Given the description of an element on the screen output the (x, y) to click on. 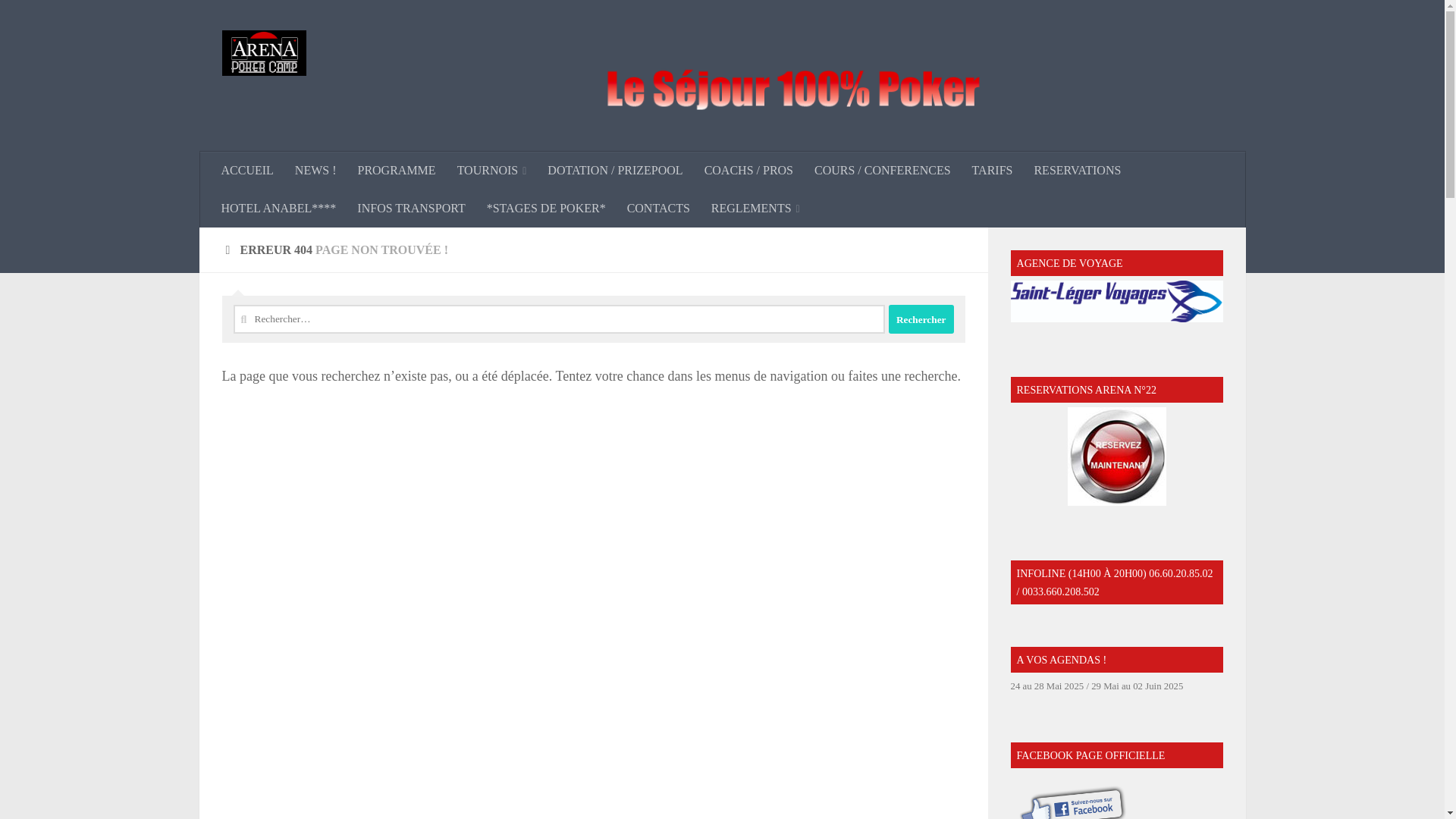
INFOS TRANSPORT (411, 208)
CONTACTS (657, 208)
Rechercher (920, 318)
RESERVATIONS (1077, 170)
PROGRAMME (395, 170)
Skip to content (59, 20)
ACCUEIL (247, 170)
TARIFS (991, 170)
TOURNOIS (491, 170)
REGLEMENTS (755, 208)
